Given the description of an element on the screen output the (x, y) to click on. 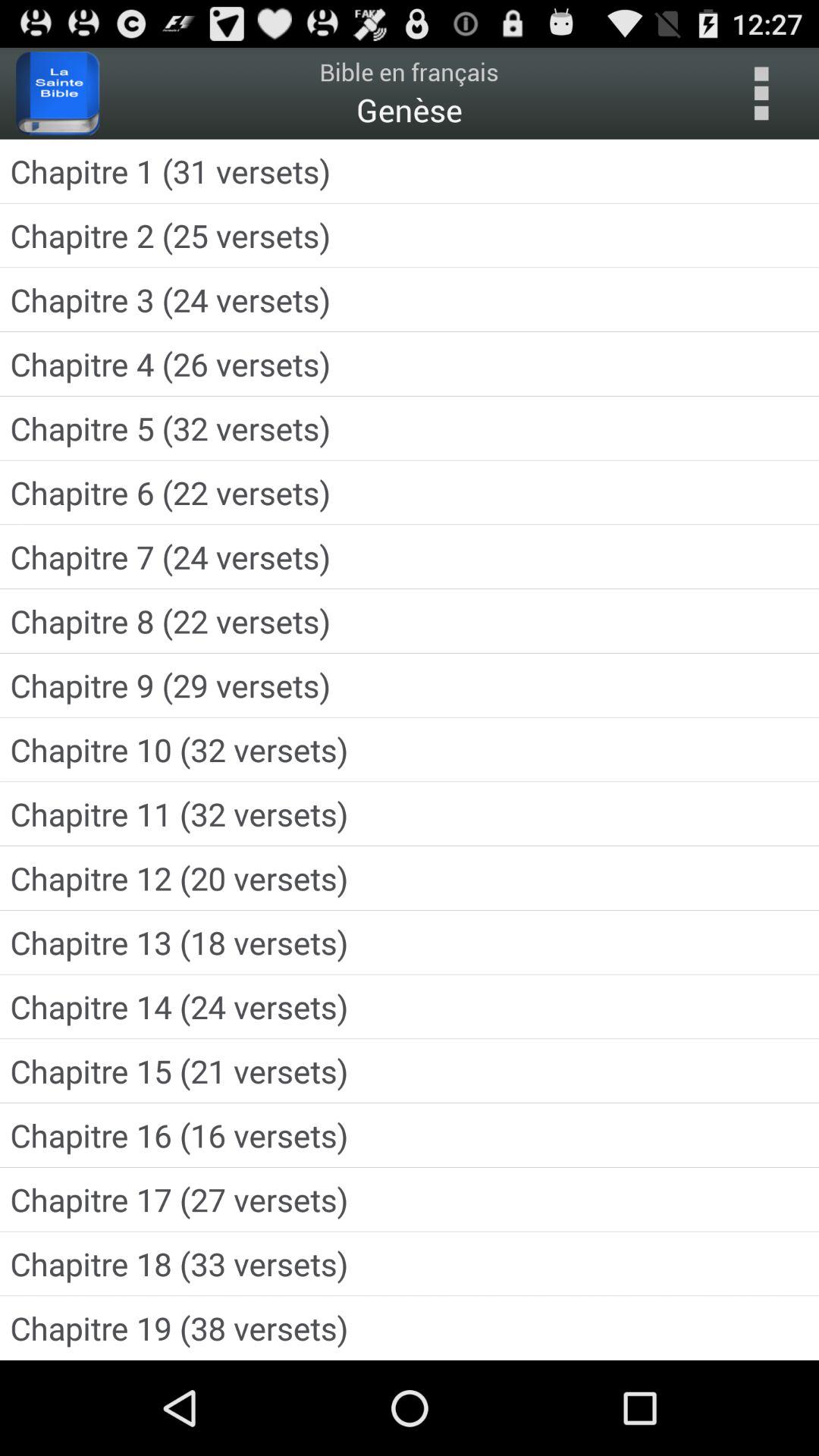
click the icon below chapitre 1 31 app (409, 235)
